Given the description of an element on the screen output the (x, y) to click on. 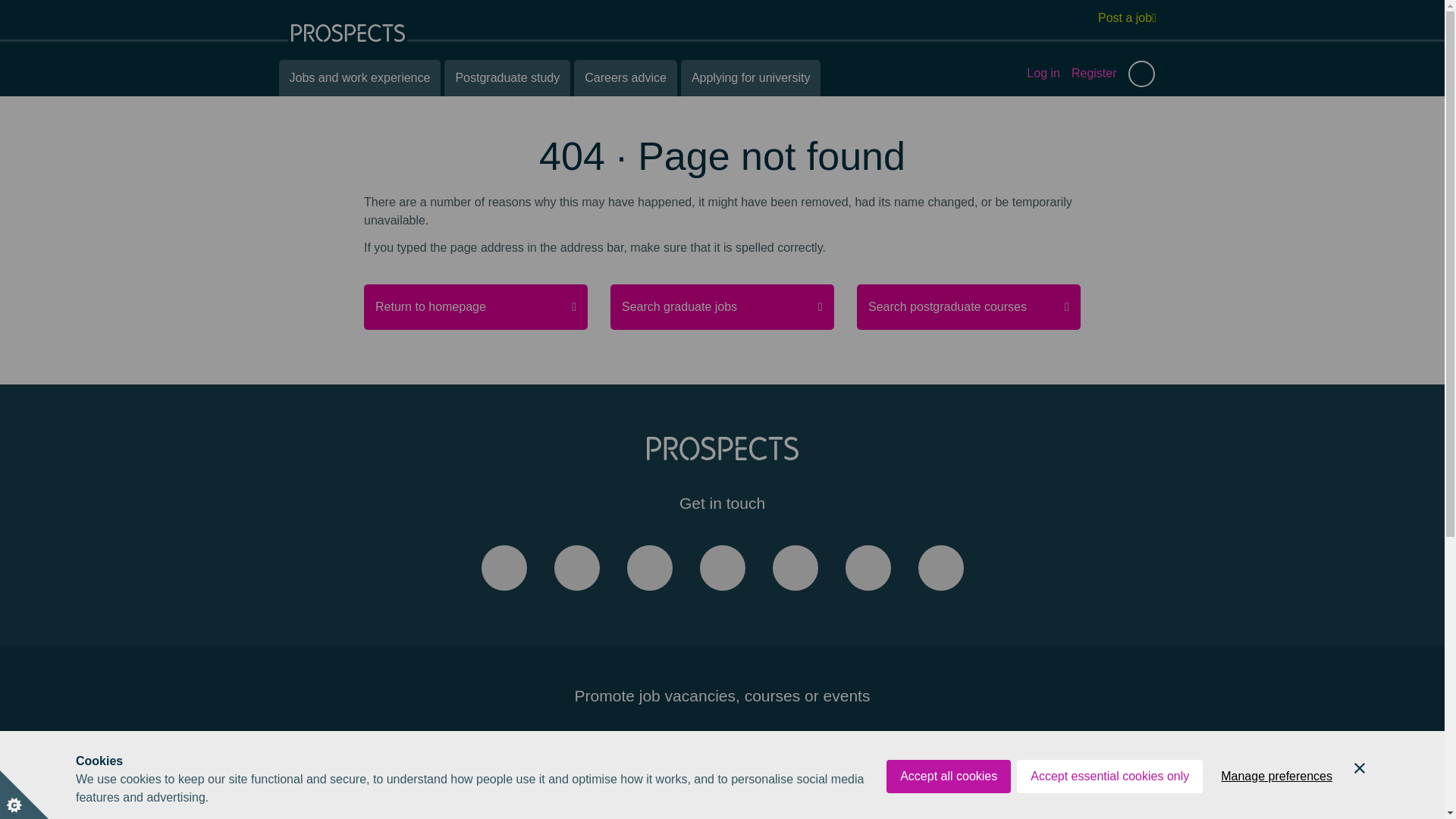
Site search (1141, 73)
Accept essential cookies only (1109, 776)
Postgraduate study (507, 77)
Jobs and work experience (360, 77)
Accept all cookies (948, 776)
Careers advice (625, 77)
Post a job (1126, 18)
Manage preferences (1275, 776)
